Given the description of an element on the screen output the (x, y) to click on. 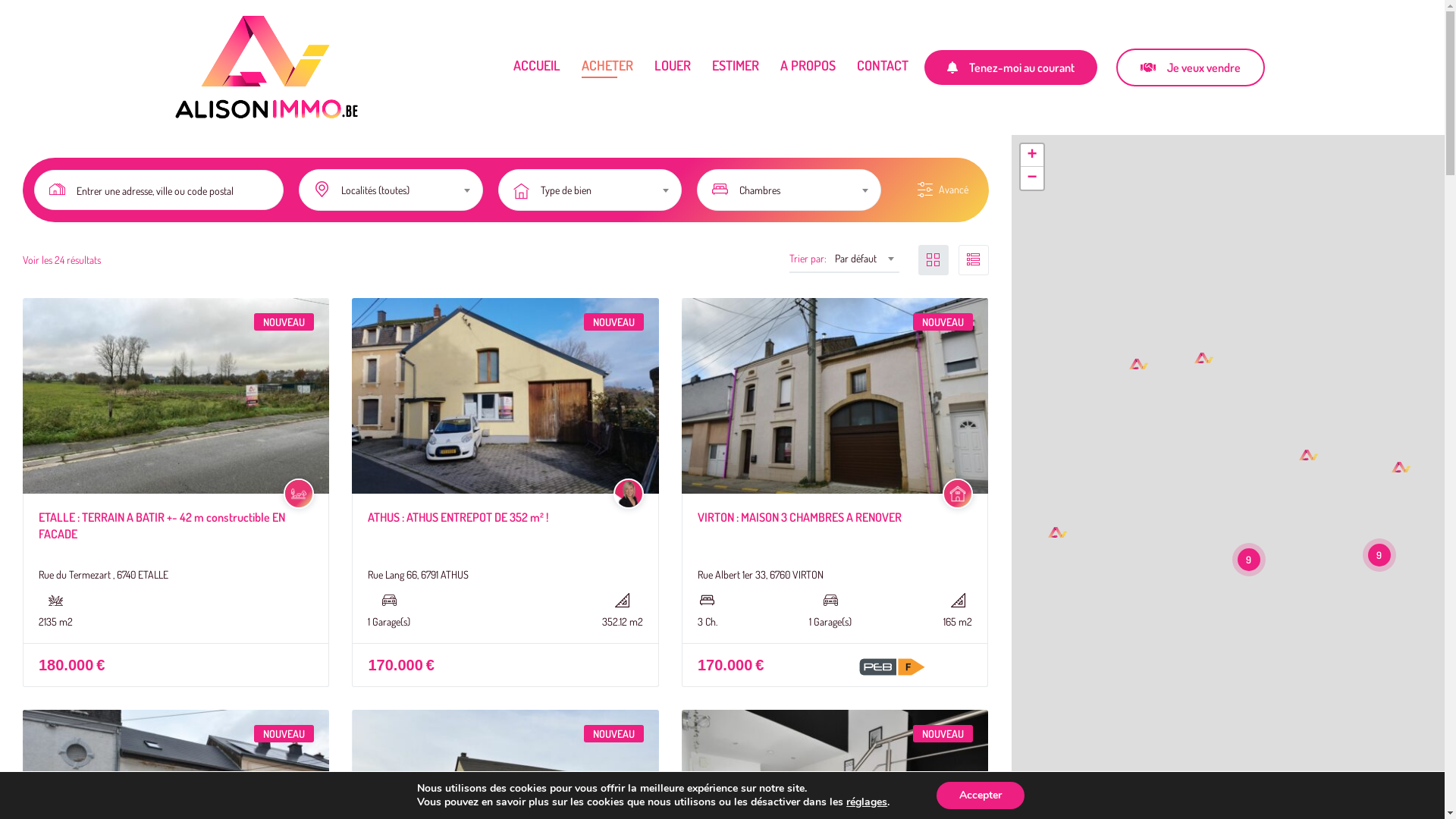
ETALLE : TERRAIN A BATIR +- 42 m constructible EN FACADE Element type: text (161, 525)
NOUVEAU Element type: text (942, 733)
NOUVEAU Element type: text (942, 321)
ACCUEIL Element type: text (535, 67)
ACHETER Element type: text (606, 67)
ESTIMER Element type: text (734, 67)
A PROPOS Element type: text (806, 67)
+ Element type: text (1031, 155)
Je veux vendre Element type: text (1190, 67)
Rue Lang 66, 6791 ATHUS Element type: text (417, 573)
Rue Albert 1er 33, 6760 VIRTON Element type: text (760, 573)
Accepter Element type: text (980, 795)
NOUVEAU Element type: text (283, 321)
Rue du Termezart , 6740 ETALLE Element type: text (103, 573)
NOUVEAU Element type: text (283, 733)
NOUVEAU Element type: text (613, 321)
Tenez-moi au courant Element type: text (1010, 67)
NOUVEAU Element type: text (613, 733)
LOUER Element type: text (671, 67)
CONTACT Element type: text (882, 67)
VIRTON : MAISON 3 CHAMBRES A RENOVER Element type: text (799, 516)
Leaflet Element type: text (1429, 811)
